Given the description of an element on the screen output the (x, y) to click on. 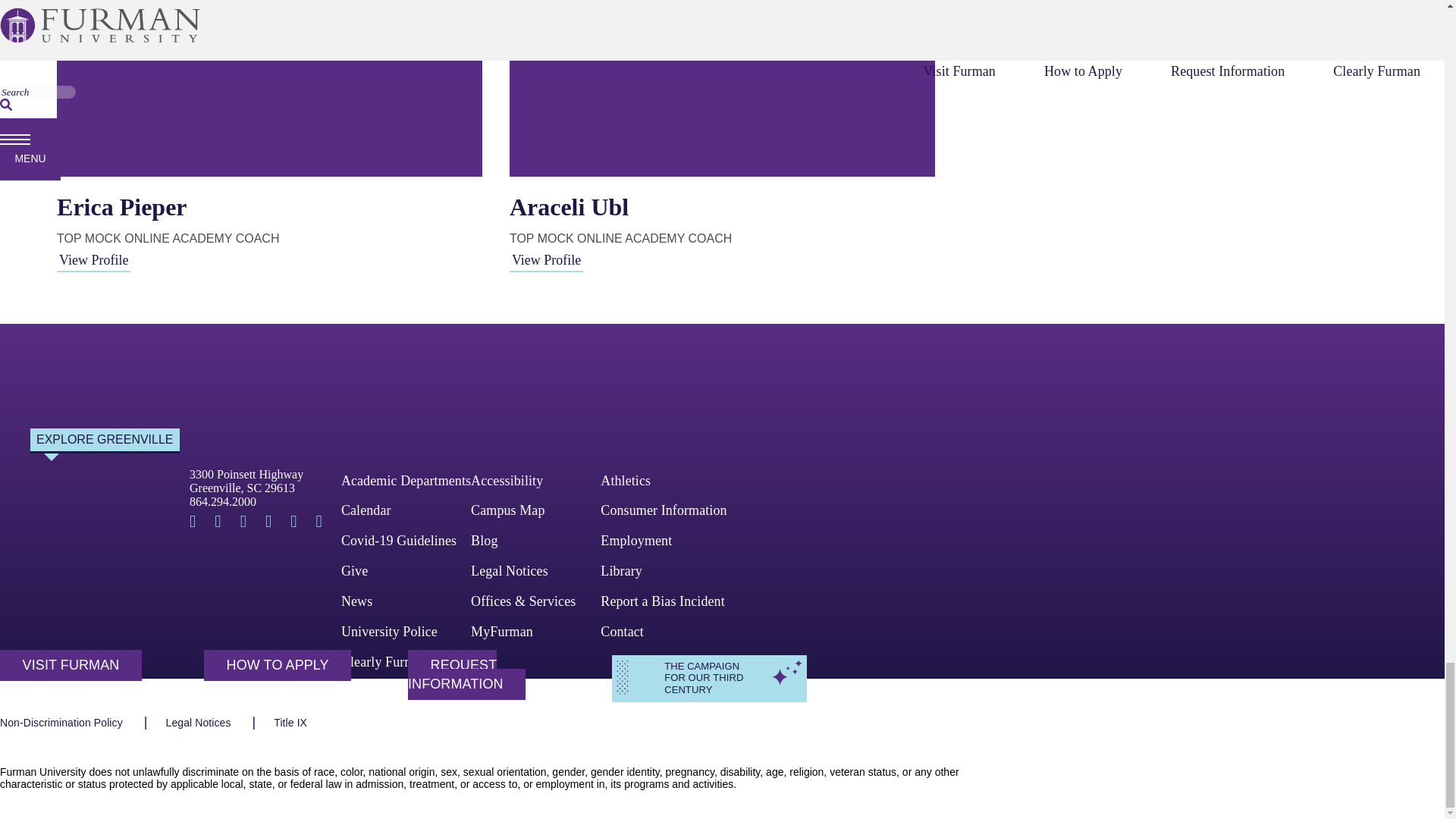
864.294.2000 (245, 480)
View Profile (222, 501)
View Profile (546, 259)
